Given the description of an element on the screen output the (x, y) to click on. 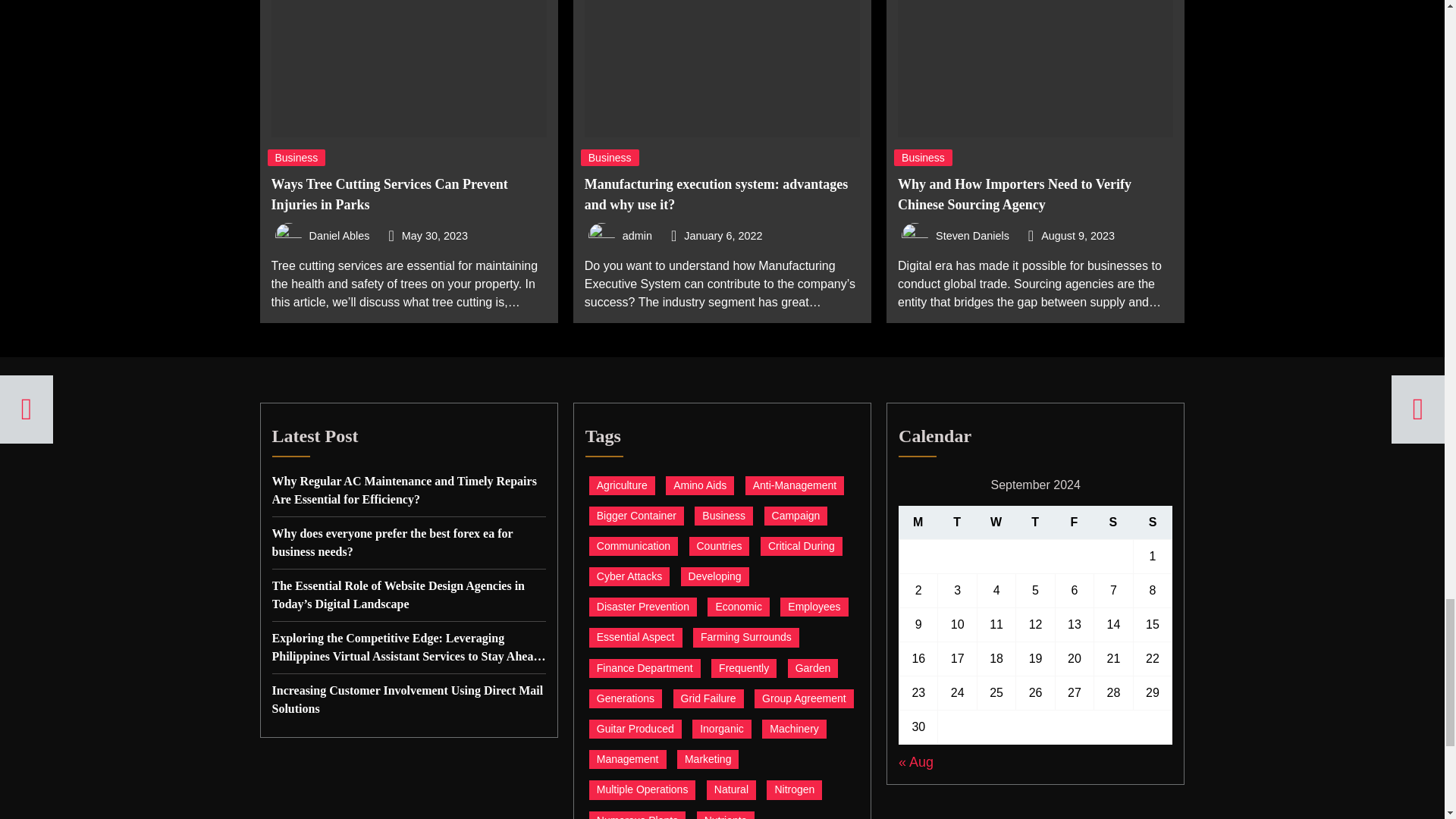
Sunday (1152, 522)
Monday (917, 522)
Friday (1073, 522)
Thursday (1034, 522)
Wednesday (995, 522)
Saturday (1112, 522)
Tuesday (956, 522)
